Given the description of an element on the screen output the (x, y) to click on. 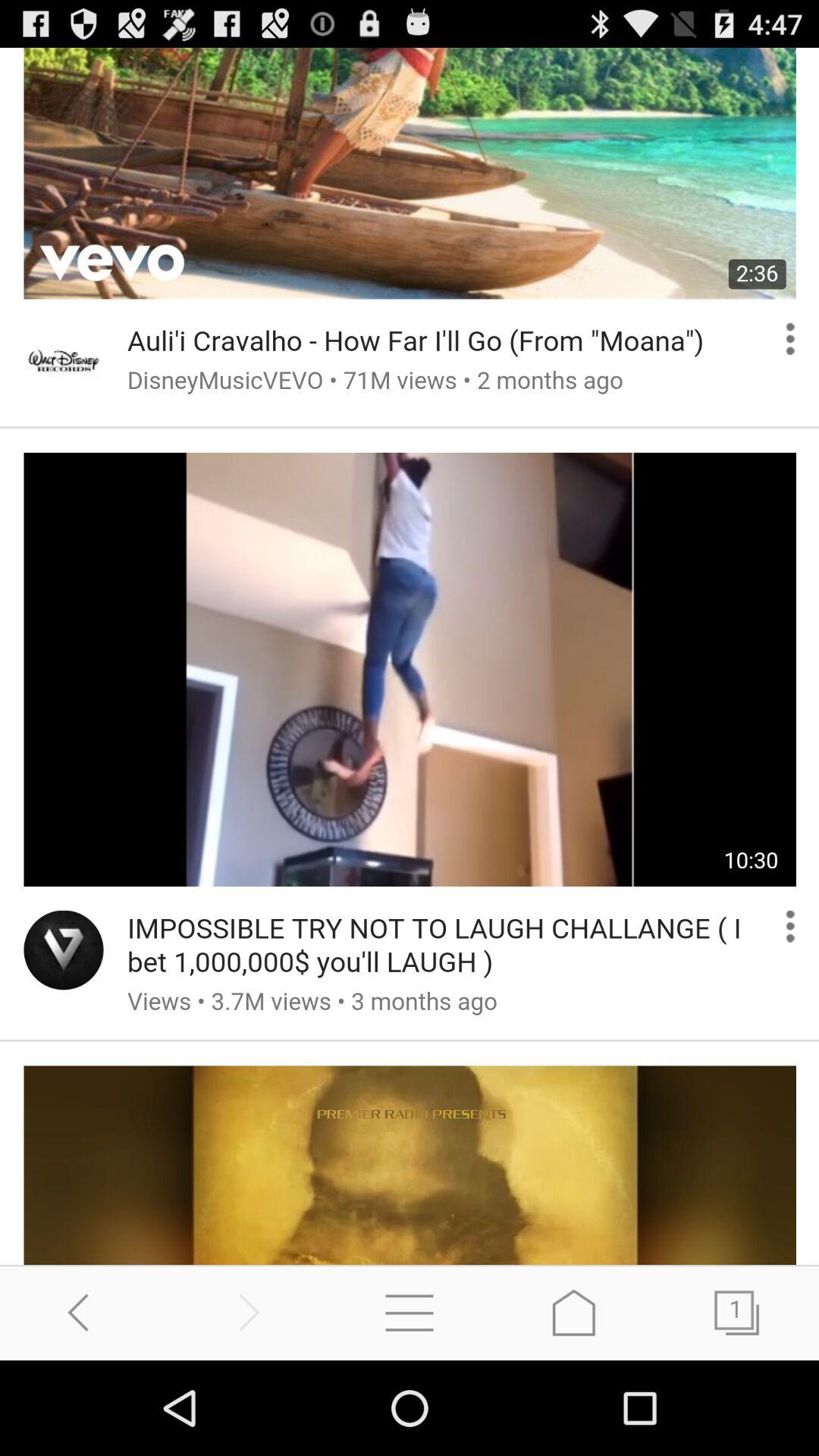
access pages (736, 1312)
